Given the description of an element on the screen output the (x, y) to click on. 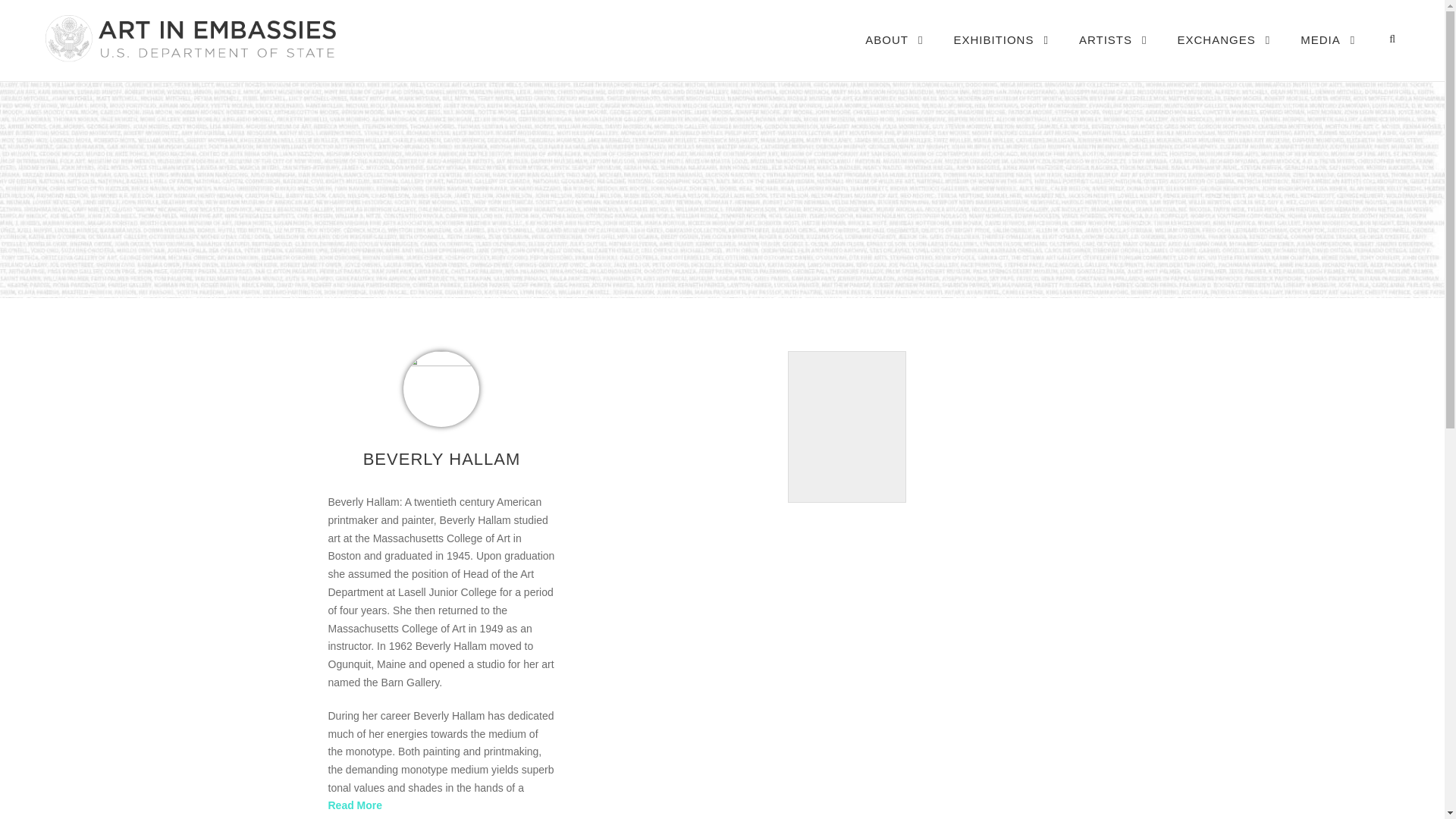
aie logo3 (188, 38)
ABOUT (893, 55)
9060 (441, 388)
